Given the description of an element on the screen output the (x, y) to click on. 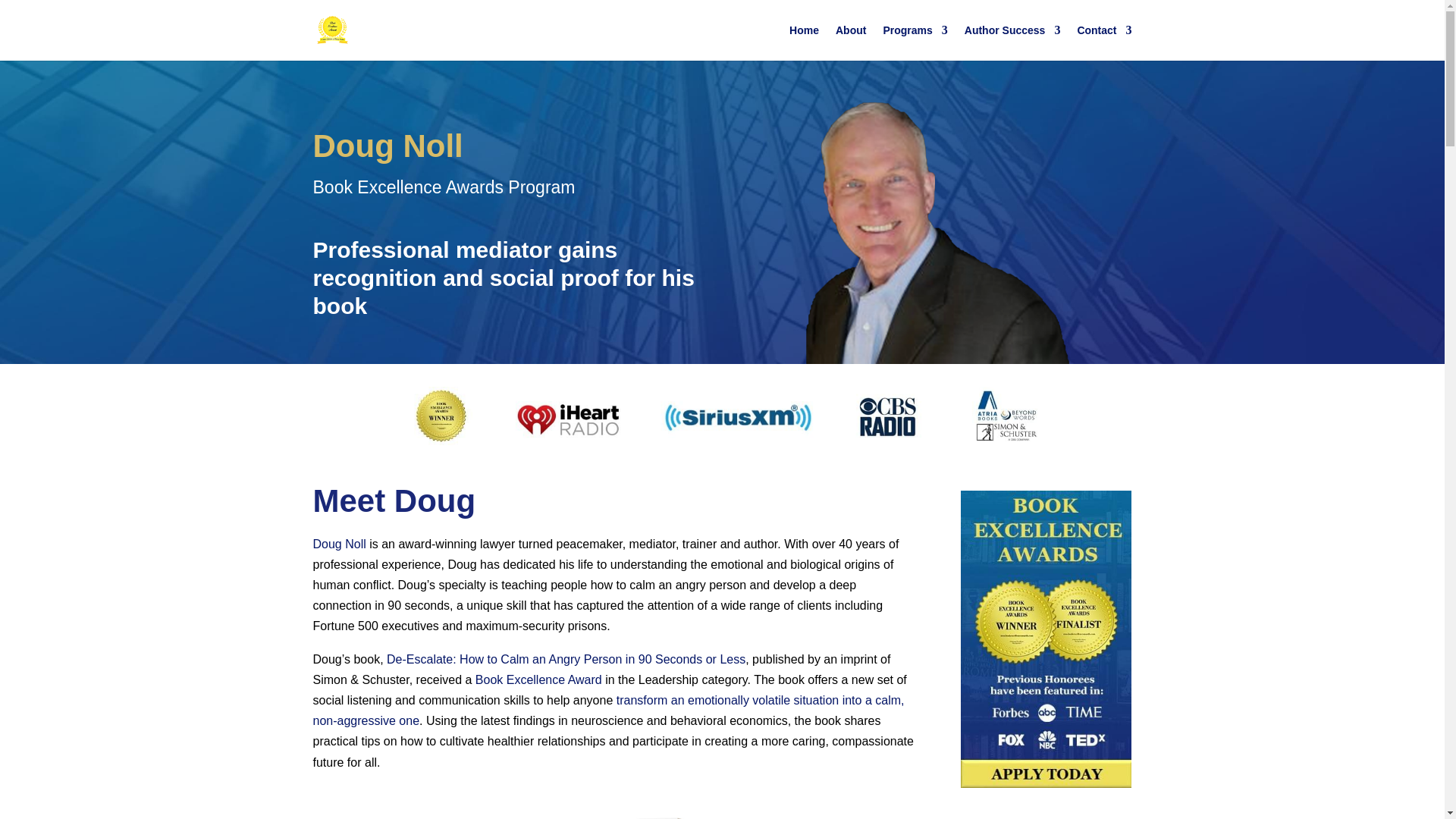
Author Success (1012, 42)
Programs (914, 42)
Book Excellence Award (539, 679)
Doug Noll (339, 543)
Contact (1104, 42)
